Given the description of an element on the screen output the (x, y) to click on. 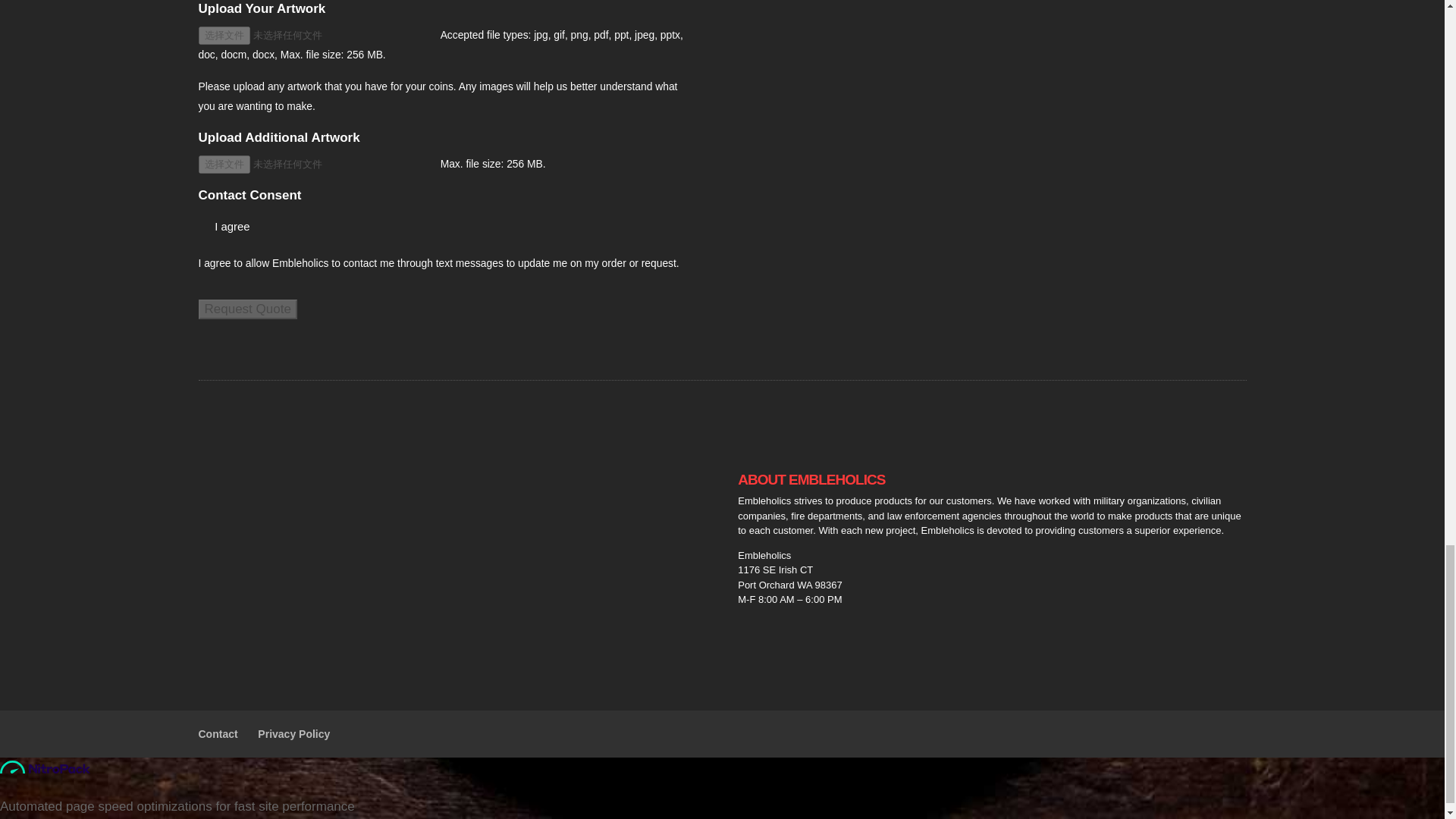
The privacy policy for our site  (293, 734)
Request Quote (247, 309)
Request Quote (247, 309)
